Given the description of an element on the screen output the (x, y) to click on. 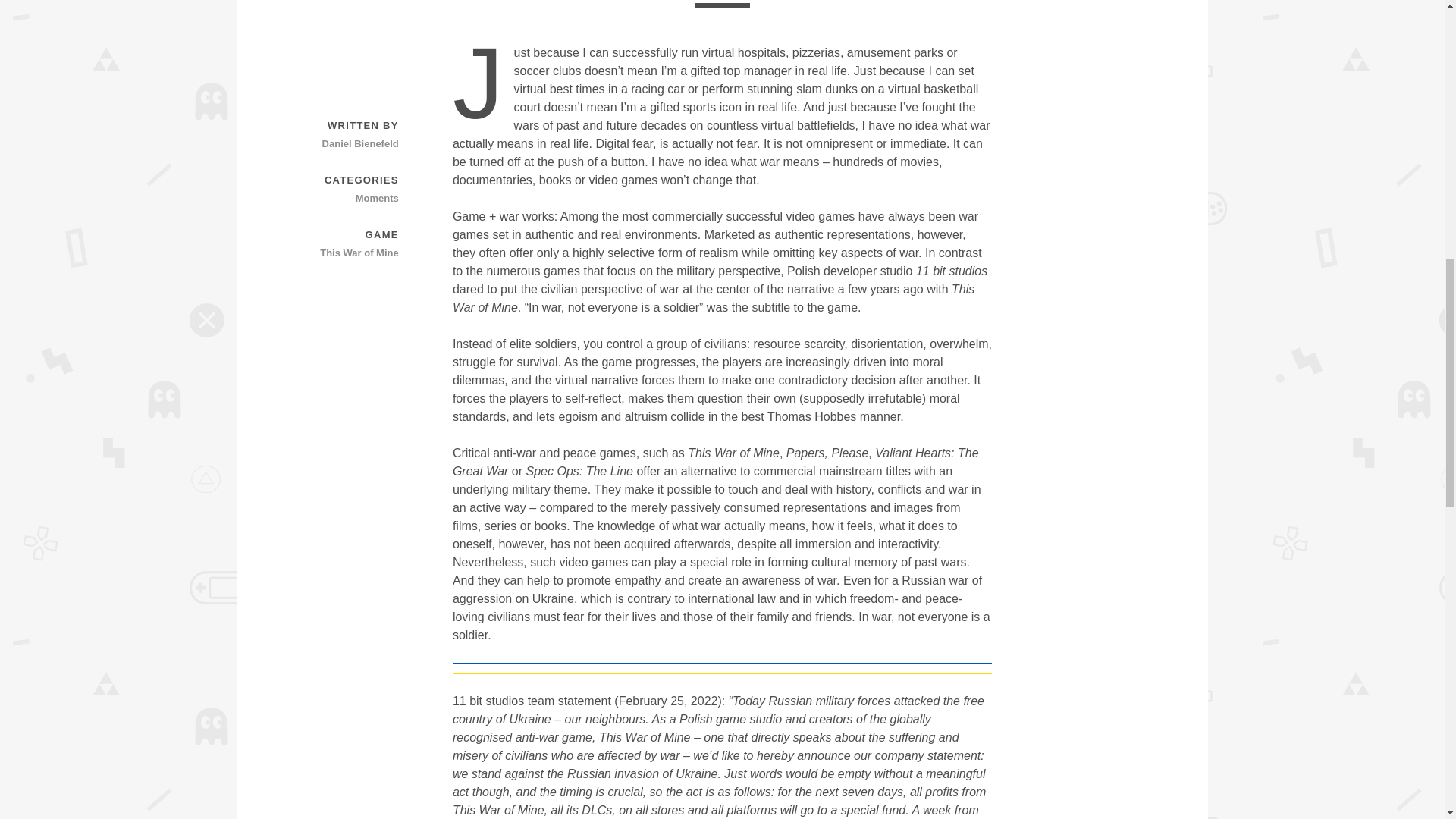
Posts by Daniel Bienefeld (344, 144)
Moments (344, 198)
Daniel Bienefeld (344, 144)
View all posts related to the game This War of Mine (344, 253)
View all posts in Moments (344, 198)
This War of Mine (344, 253)
